Given the description of an element on the screen output the (x, y) to click on. 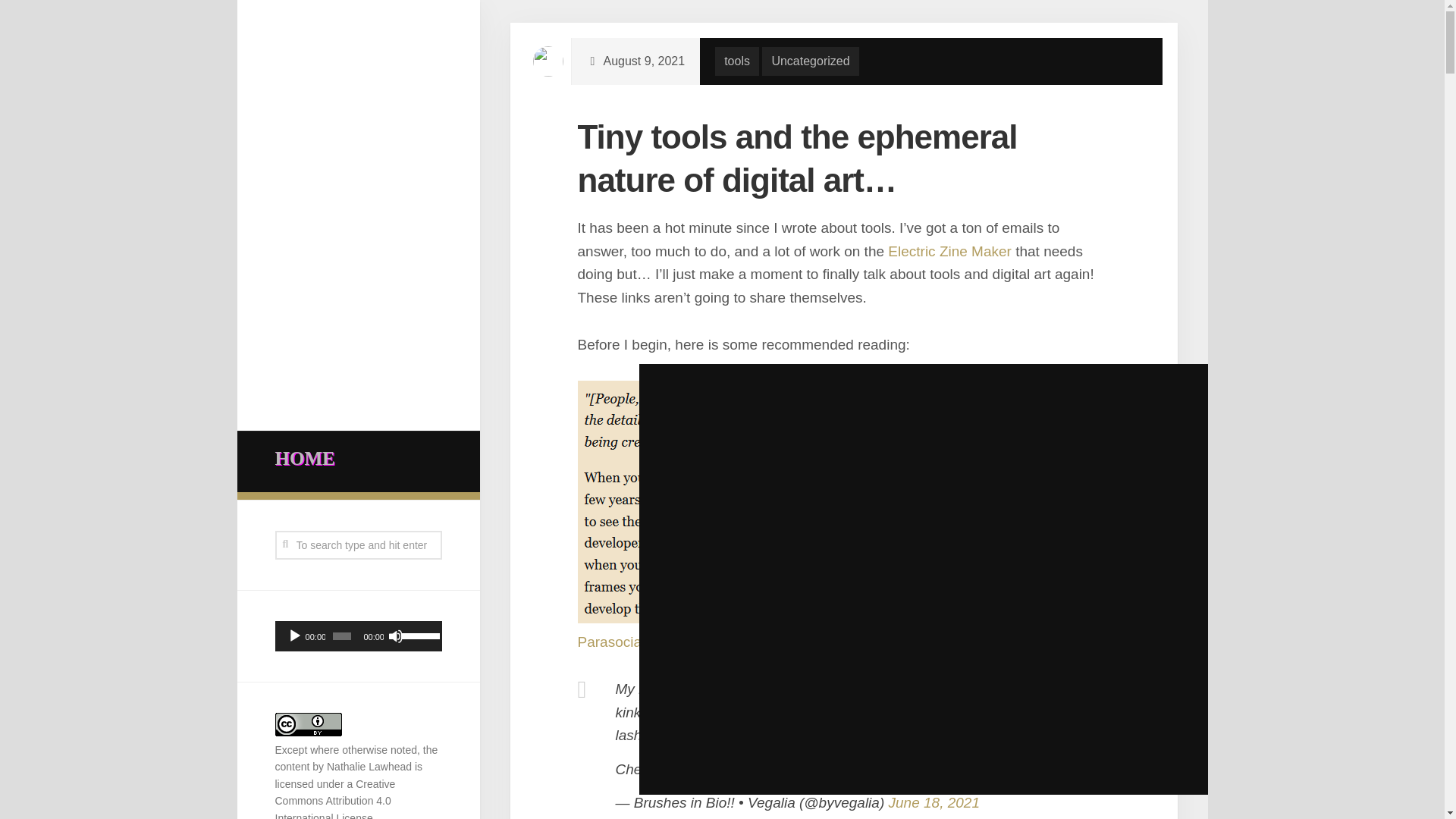
Creative Commons Attribution 4.0 International (334, 798)
To search type and hit enter (358, 544)
Nathalie Lawhead (369, 766)
HOME (358, 458)
Play (293, 635)
To search type and hit enter (358, 544)
The Candybox Blog (989, 418)
Mute (395, 635)
